Given the description of an element on the screen output the (x, y) to click on. 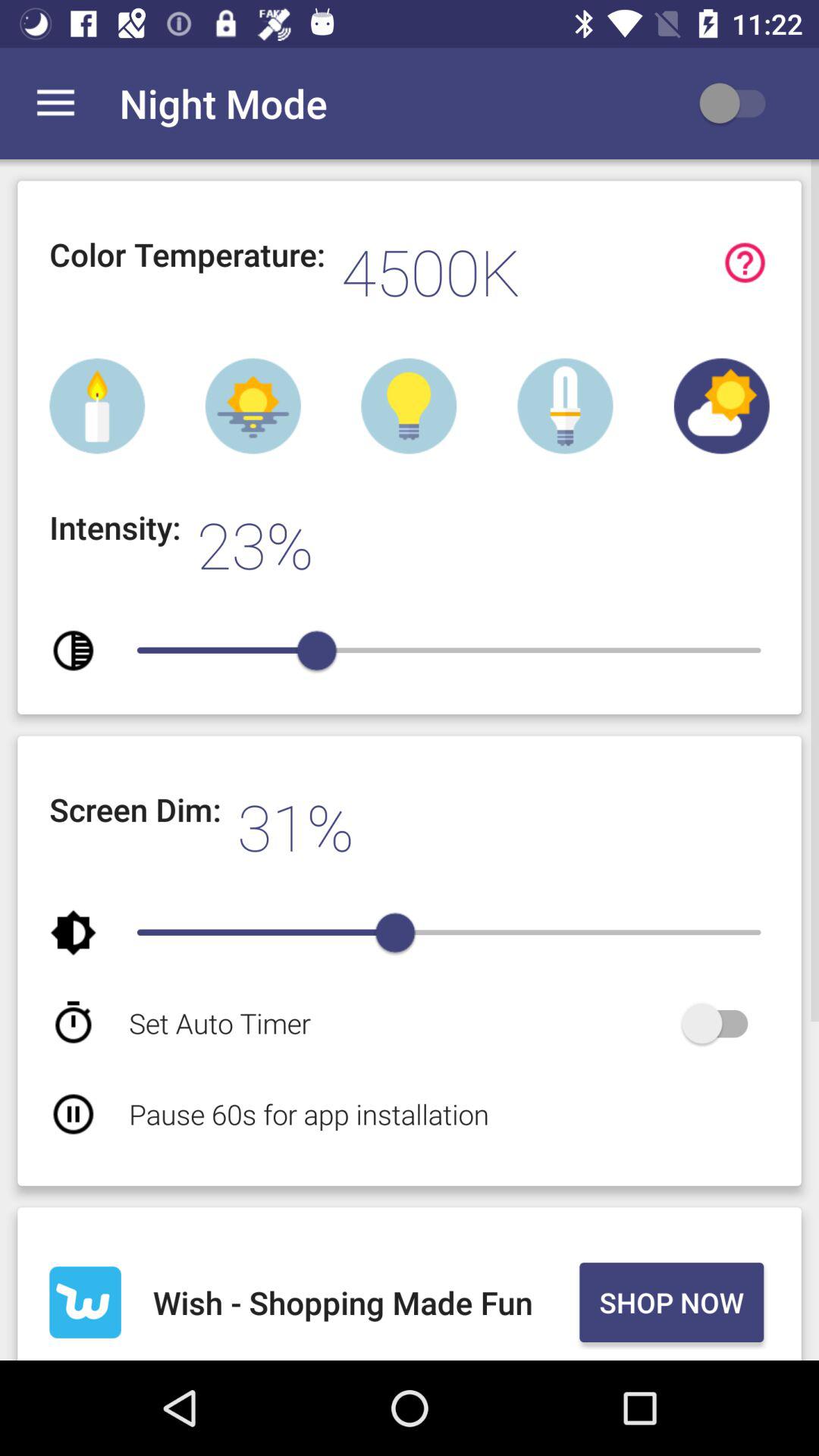
scroll to set auto timer icon (402, 1022)
